Given the description of an element on the screen output the (x, y) to click on. 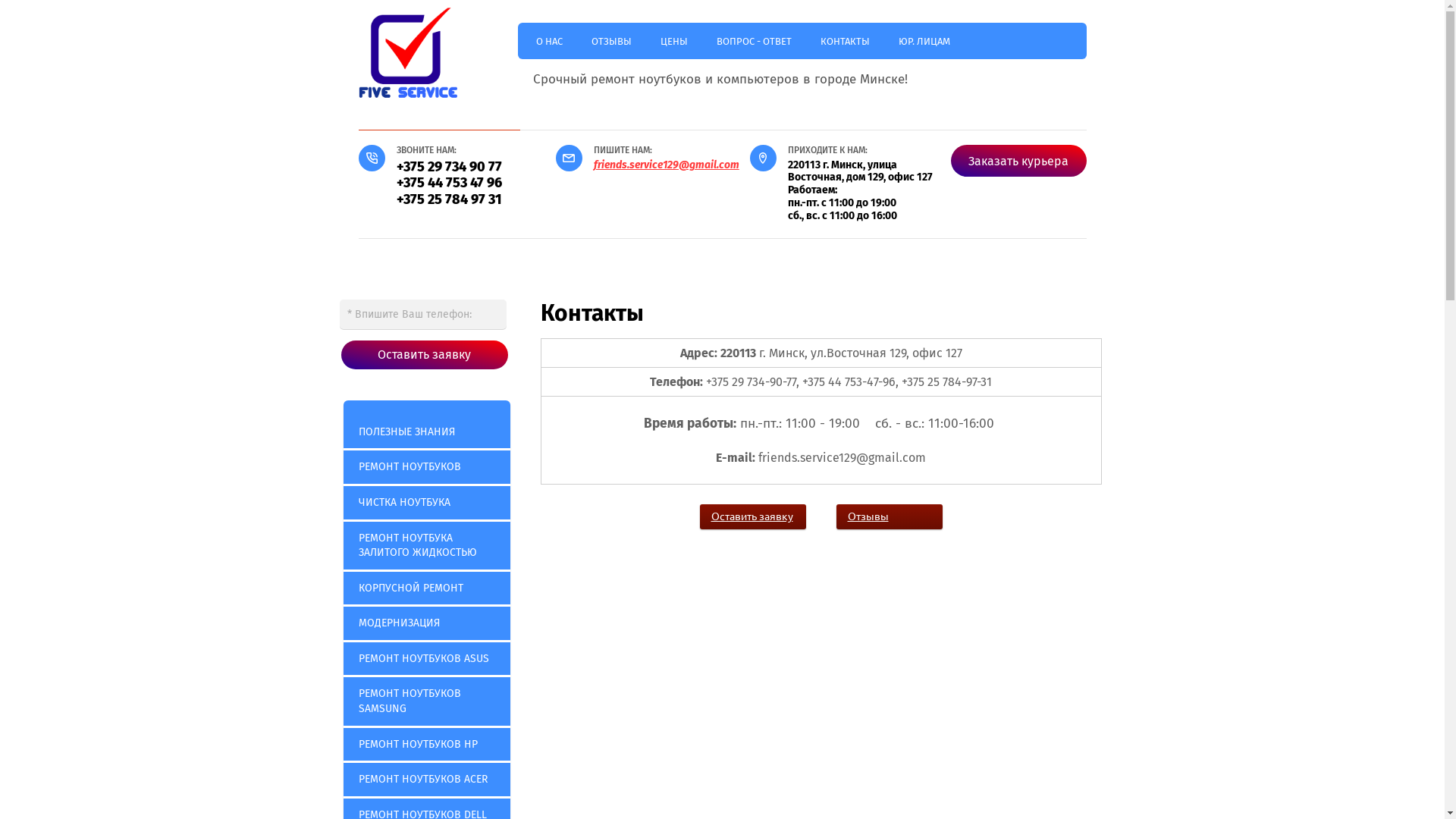
+375 29 734 90 77 Element type: text (448, 166)
+375 44 753 47 96 Element type: text (448, 182)
friends.service129@gmail.com Element type: text (665, 164)
+375 25 784 97 31 Element type: text (448, 199)
